Given the description of an element on the screen output the (x, y) to click on. 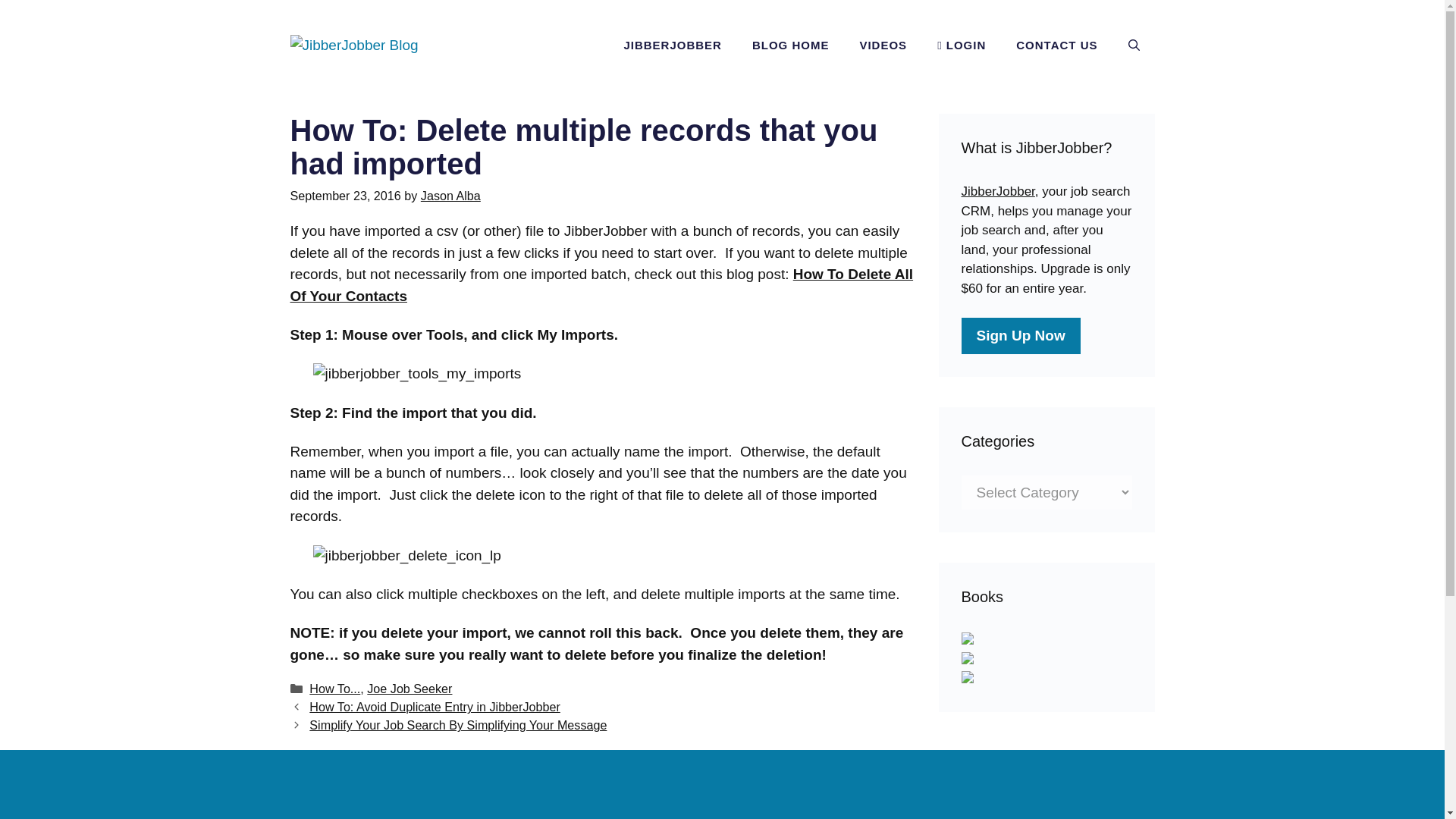
Next (457, 725)
Sign Up Now (1020, 334)
Simplify Your Job Search By Simplifying Your Message (457, 725)
BLOG HOME (790, 44)
Jason Alba (450, 195)
VIDEOS (882, 44)
JibberJobber (997, 191)
CONTACT US (1056, 44)
JibberJobber Blog (353, 44)
How To Delete All Of Your Contacts (600, 284)
View all posts by Jason Alba (450, 195)
Previous (433, 706)
Joe Job Seeker (408, 688)
How To... (333, 688)
How To: Avoid Duplicate Entry in JibberJobber (433, 706)
